Given the description of an element on the screen output the (x, y) to click on. 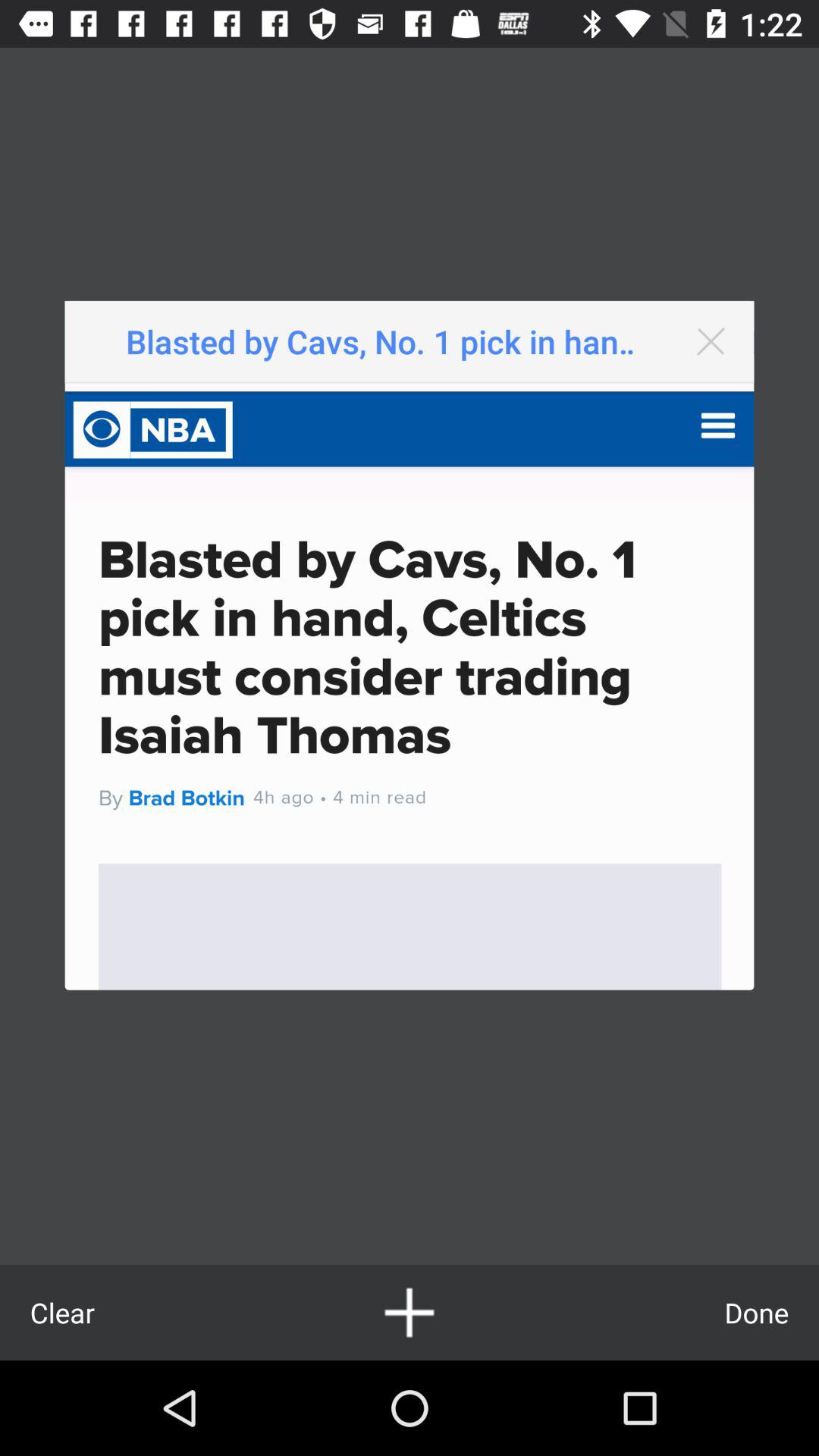
choose clear (62, 1312)
